Given the description of an element on the screen output the (x, y) to click on. 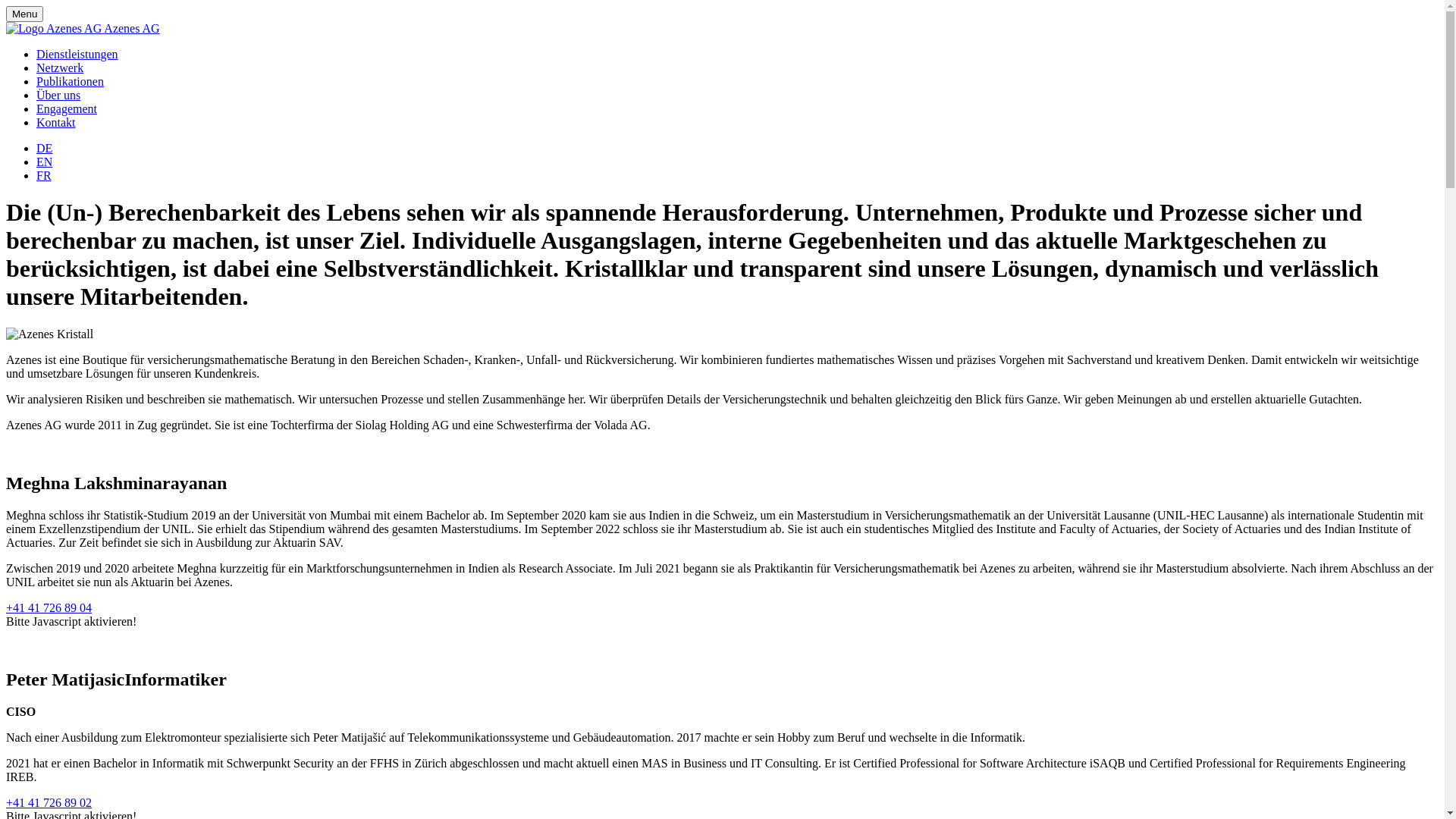
Publikationen Element type: text (69, 81)
Kontakt Element type: text (55, 122)
Netzwerk Element type: text (59, 67)
Azenes AG Element type: text (83, 27)
DE Element type: text (44, 147)
FR Element type: text (43, 175)
Menu Element type: text (24, 13)
Engagement Element type: text (66, 108)
Dienstleistungen Element type: text (77, 53)
+41 41 726 89 02 Element type: text (48, 802)
+41 41 726 89 04 Element type: text (48, 607)
EN Element type: text (44, 161)
